Given the description of an element on the screen output the (x, y) to click on. 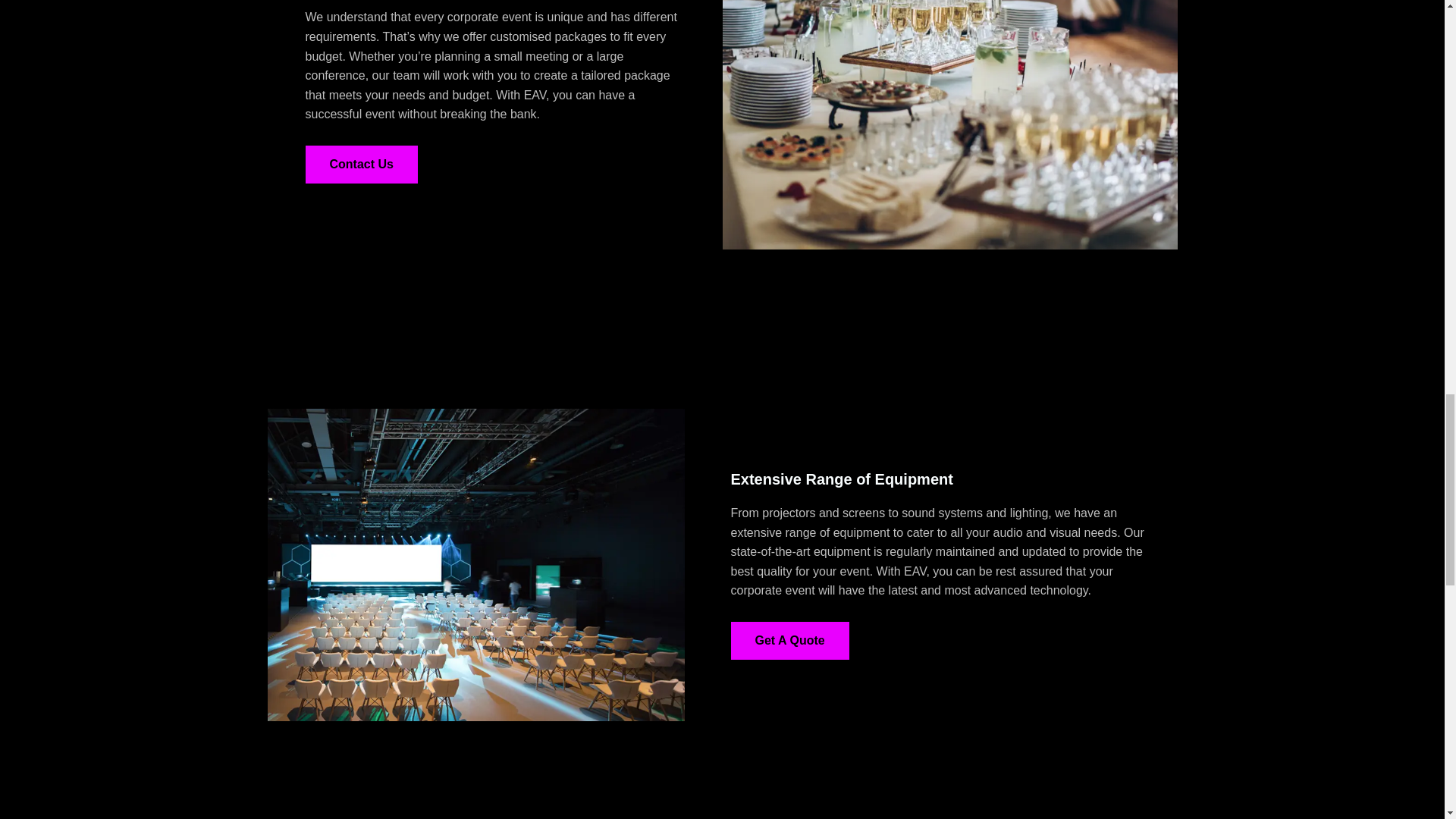
Contact Us (360, 164)
corporate events champagne and canapes (949, 124)
Get A Quote (789, 640)
corporate event chairs and big screen with lighting (475, 564)
